Given the description of an element on the screen output the (x, y) to click on. 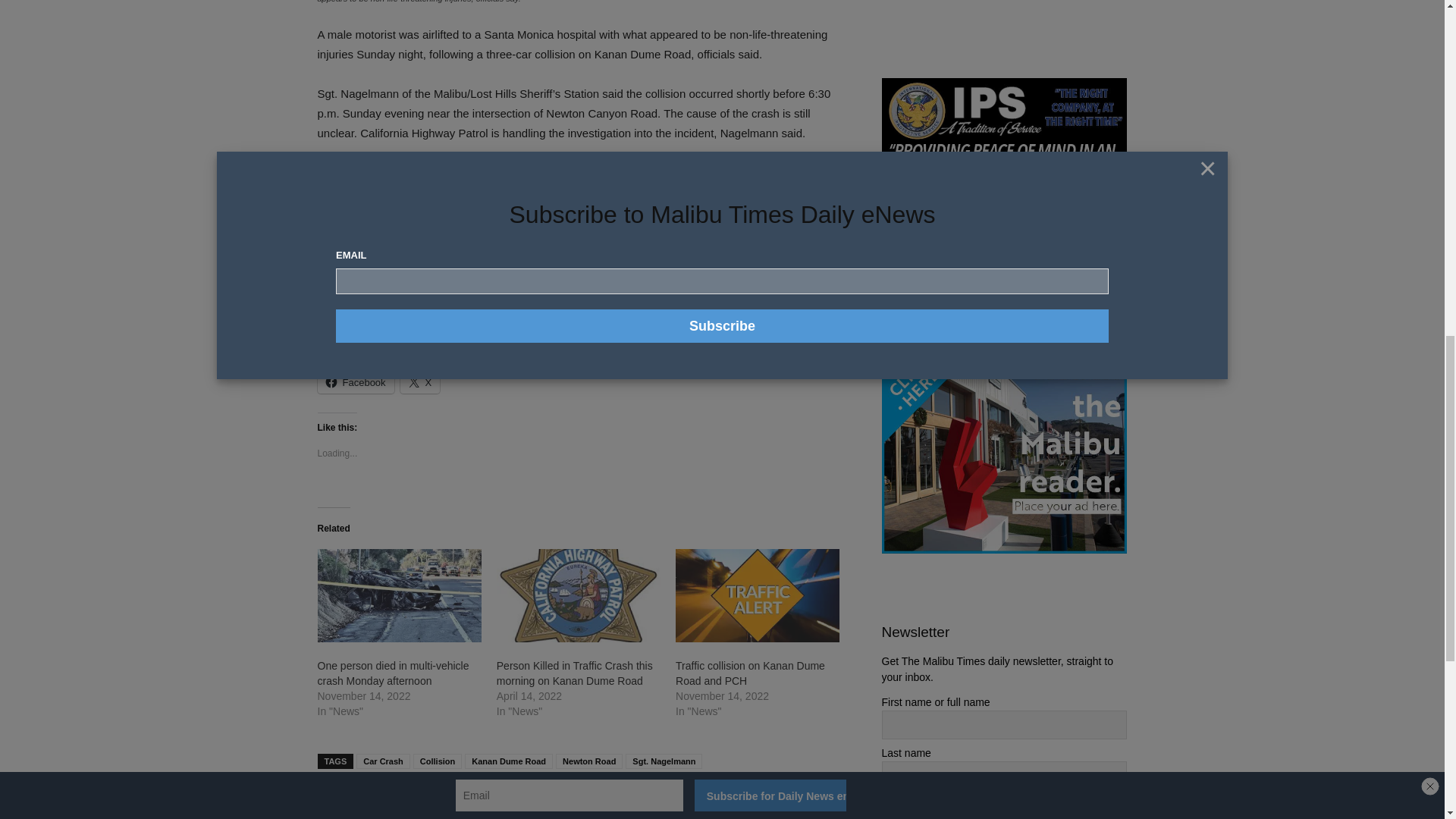
Click to share on Facebook (355, 382)
